Given the description of an element on the screen output the (x, y) to click on. 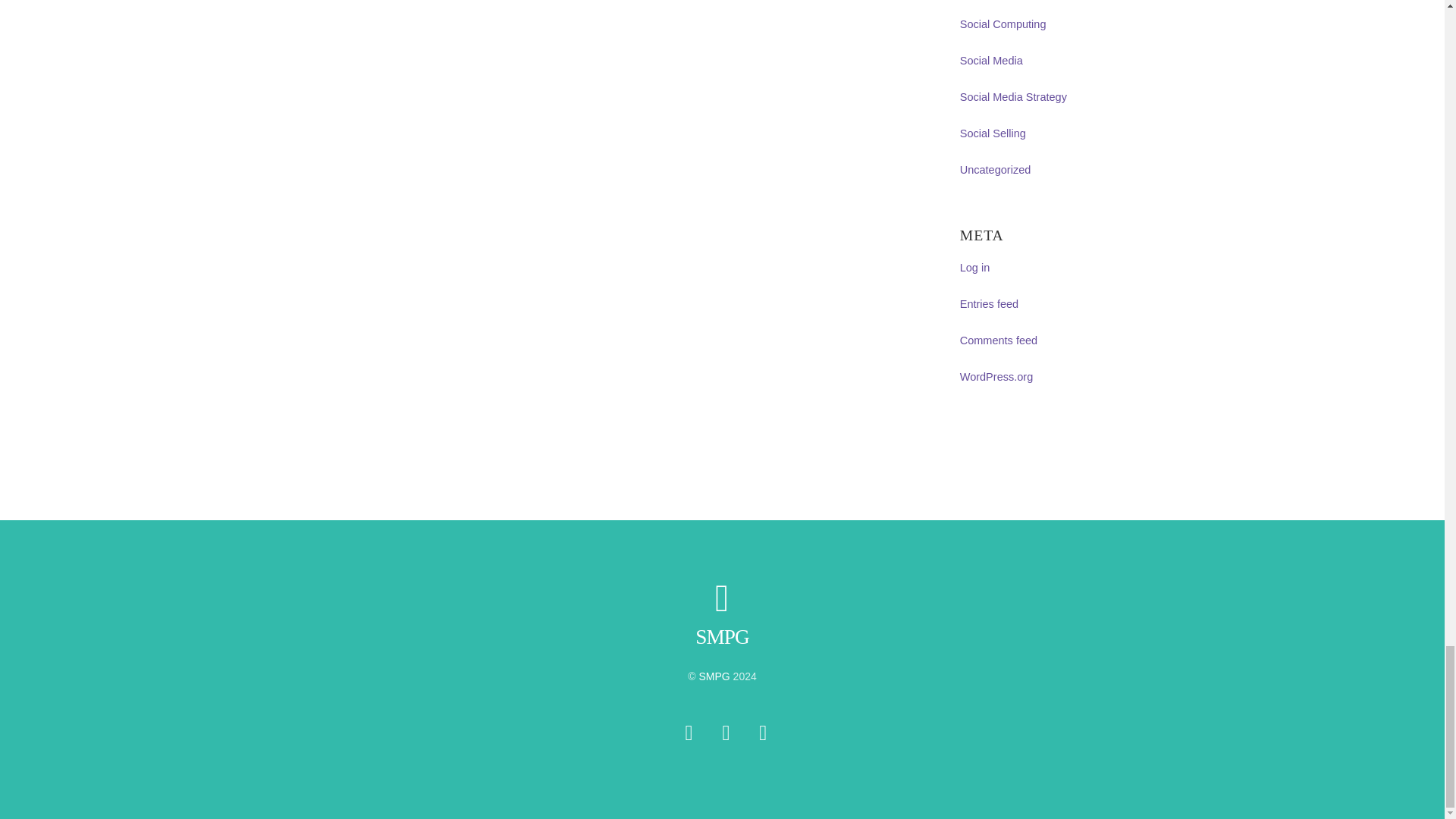
Twitter (689, 732)
SMPG (721, 636)
Facebook (726, 732)
